Given the description of an element on the screen output the (x, y) to click on. 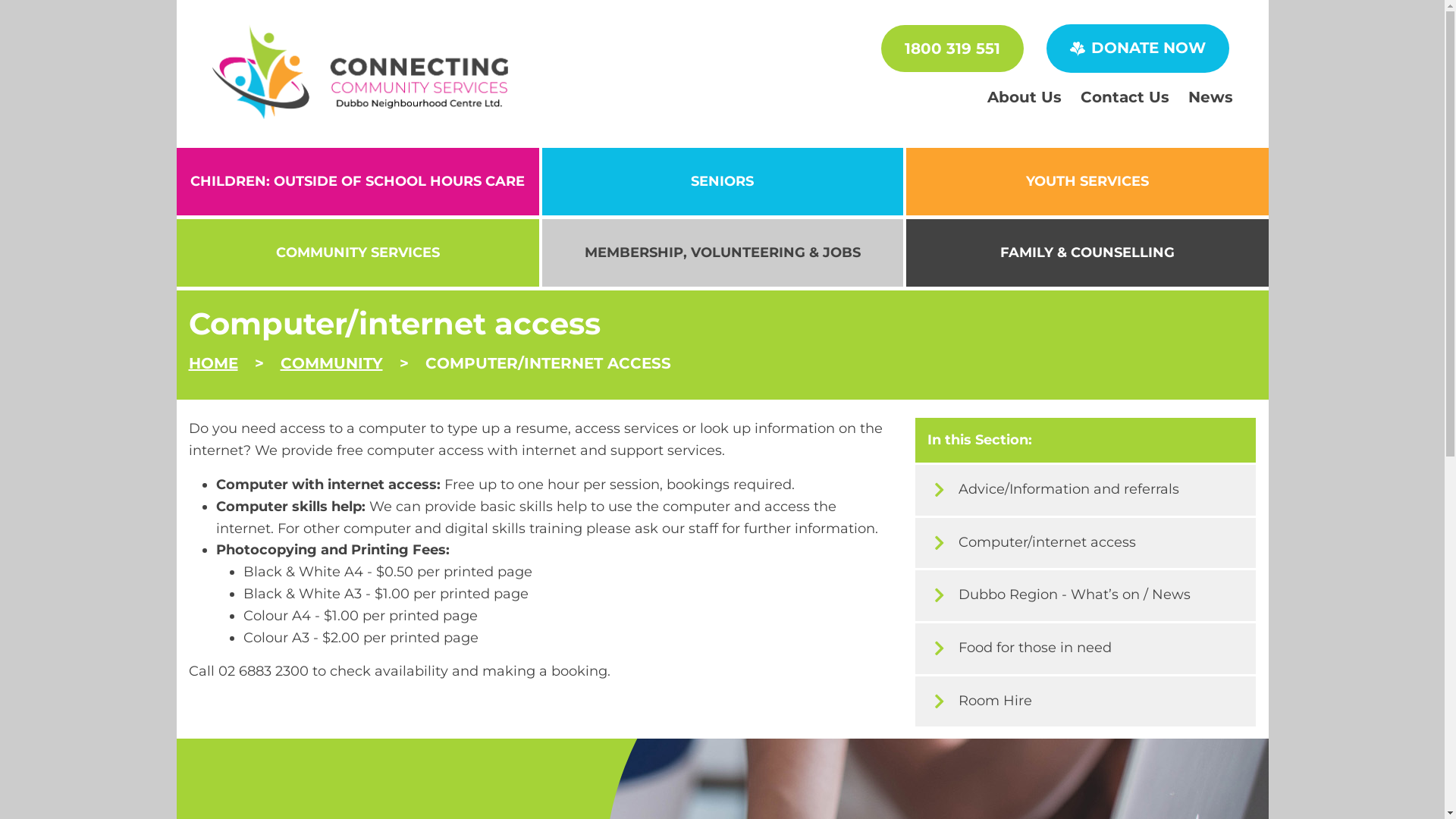
Food for those in need Element type: text (1085, 648)
Advice/Information and referrals Element type: text (1085, 489)
FAMILY & COUNSELLING Element type: text (1086, 252)
Computer/internet access Element type: text (1085, 542)
YOUTH SERVICES Element type: text (1086, 181)
Room Hire Element type: text (1085, 701)
MEMBERSHIP, VOLUNTEERING & JOBS Element type: text (721, 252)
DONATE NOW Element type: text (1137, 48)
1800 319 551 Element type: text (952, 48)
HOME Element type: text (212, 363)
About Us Element type: text (1024, 96)
Connecting Community Services logo Element type: hover (360, 71)
COMMUNITY Element type: text (331, 363)
Contact Us Element type: text (1123, 96)
CHILDREN: OUTSIDE OF SCHOOL HOURS CARE Element type: text (356, 181)
News Element type: text (1209, 96)
COMMUNITY SERVICES Element type: text (356, 252)
SENIORS Element type: text (721, 181)
